Given the description of an element on the screen output the (x, y) to click on. 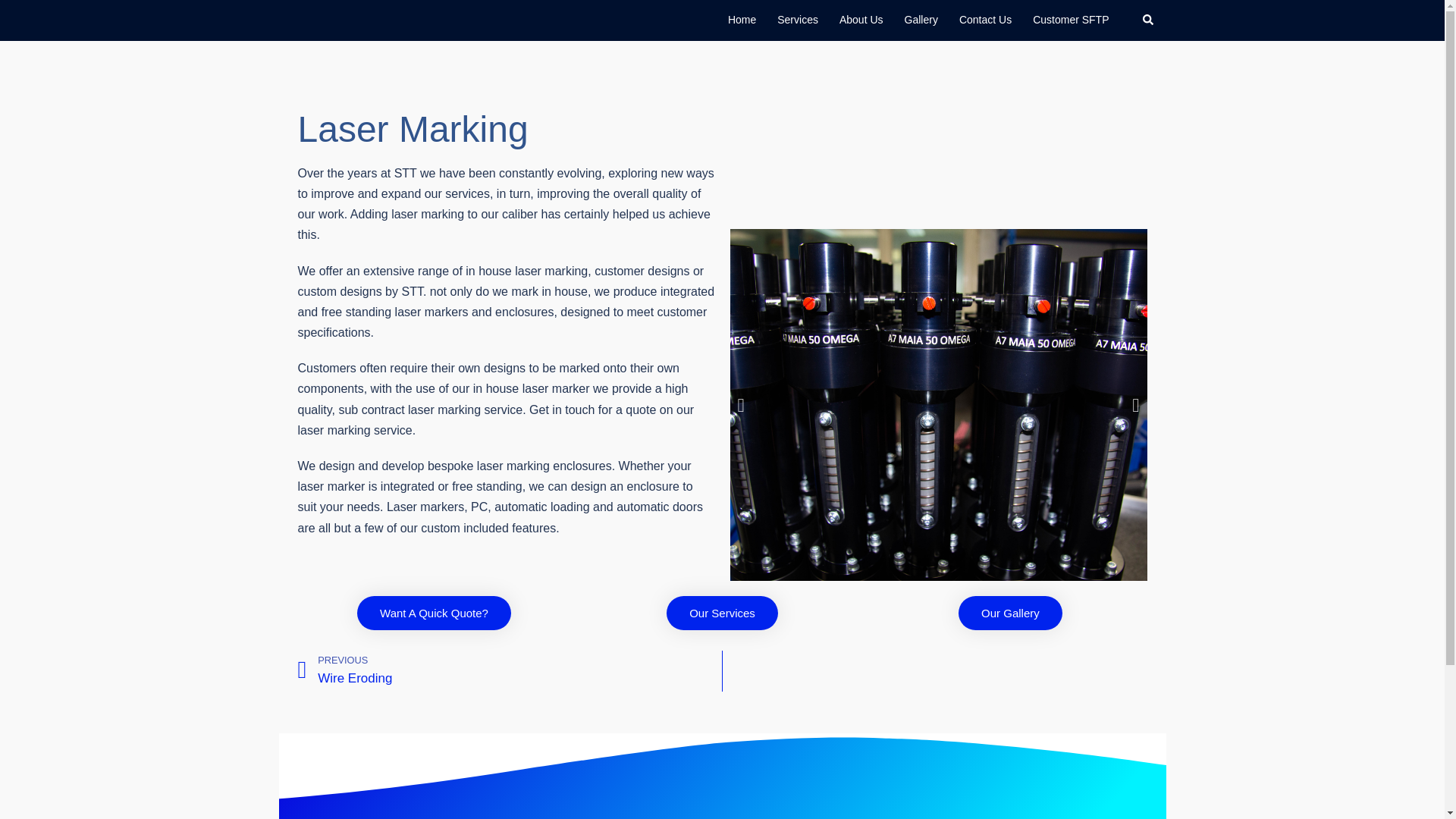
Contact Us (985, 20)
Our Gallery (1010, 612)
About Us (861, 20)
Home (741, 20)
Customer SFTP (509, 670)
Want A Quick Quote? (1070, 20)
Services (433, 612)
Gallery (797, 20)
Our Services (920, 20)
